Given the description of an element on the screen output the (x, y) to click on. 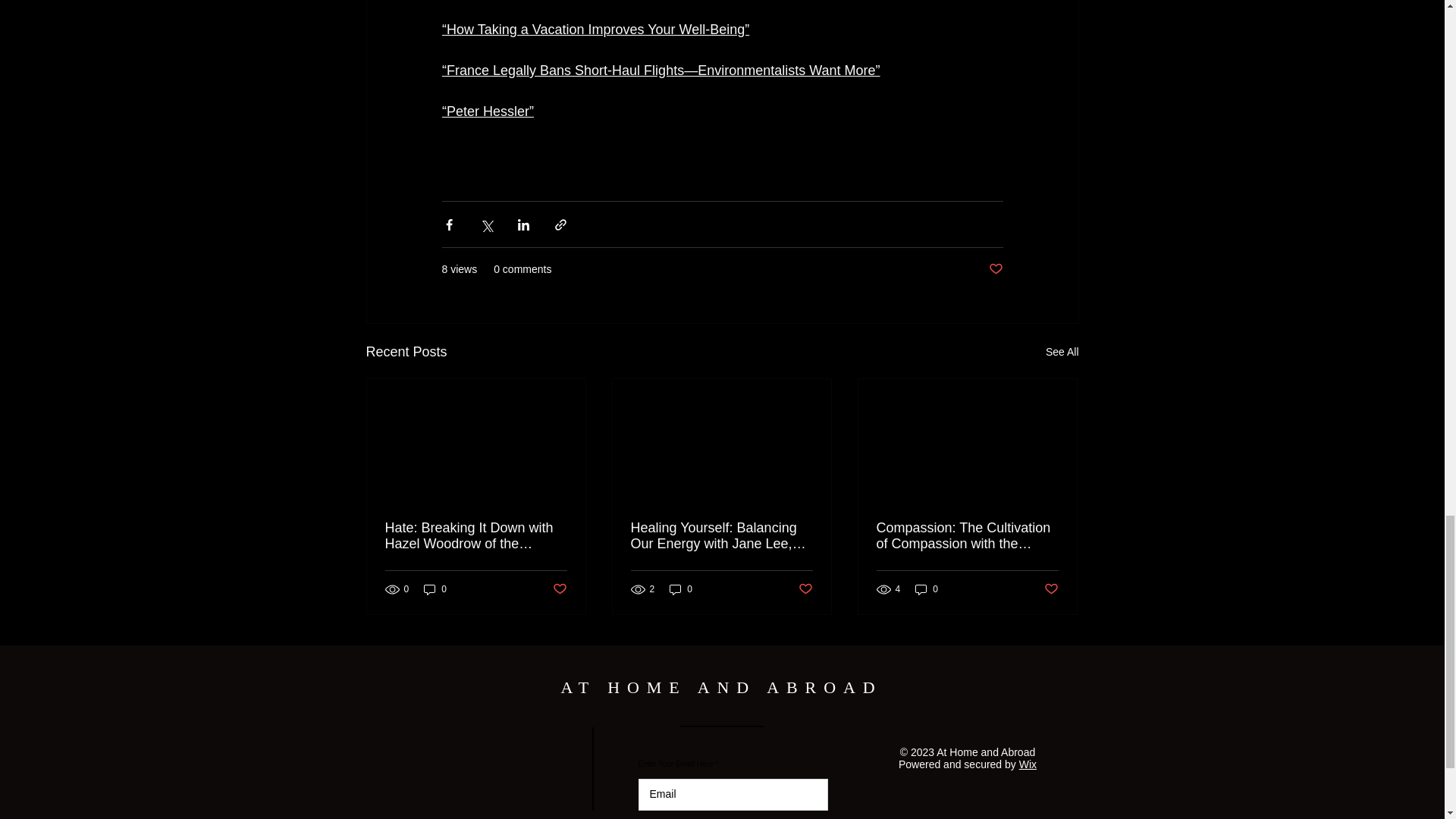
Post not marked as liked (804, 588)
Post not marked as liked (558, 588)
See All (1061, 352)
0 (681, 589)
Post not marked as liked (995, 269)
0 (435, 589)
